Given the description of an element on the screen output the (x, y) to click on. 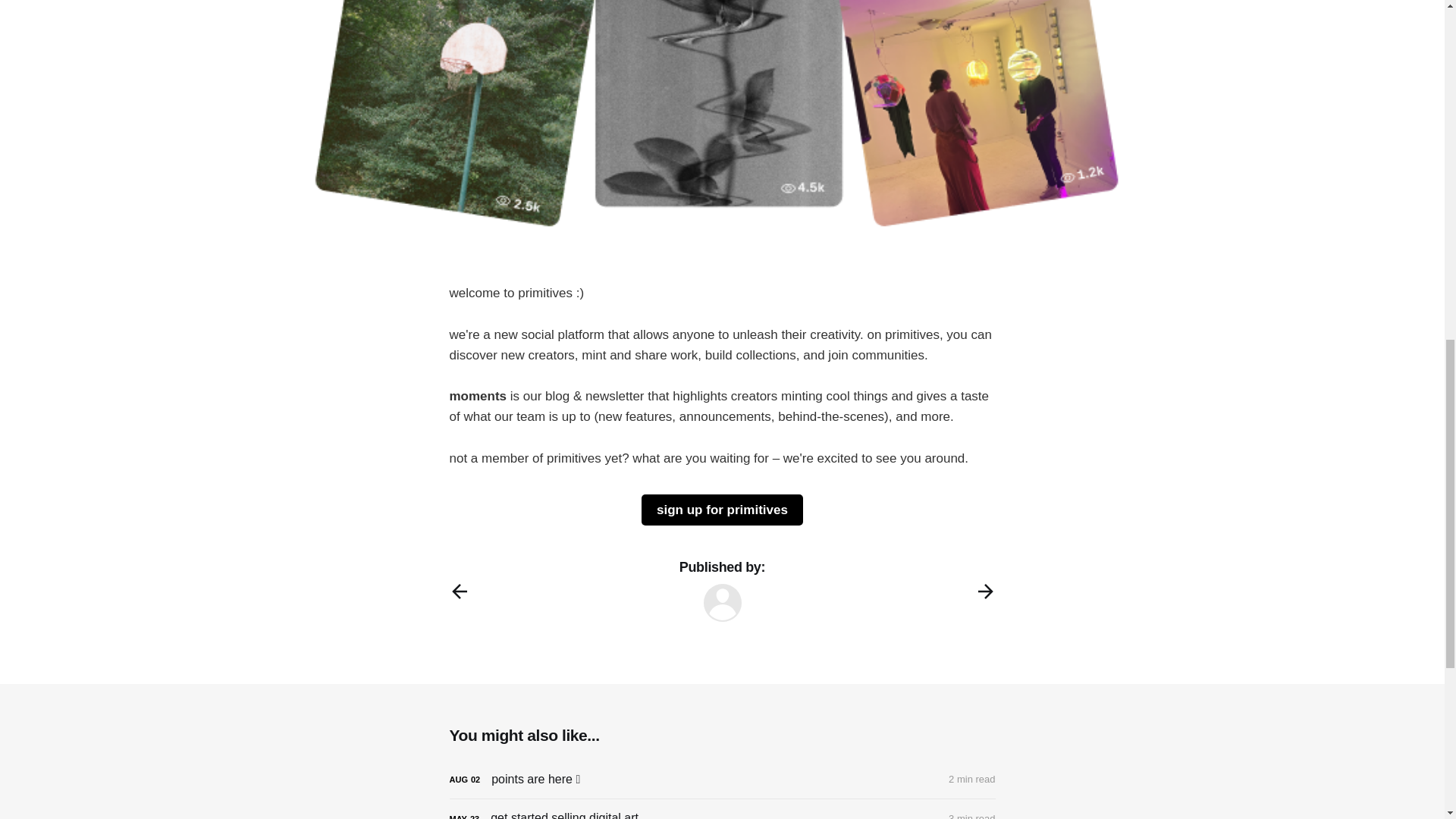
sign up for primitives (722, 509)
